Given the description of an element on the screen output the (x, y) to click on. 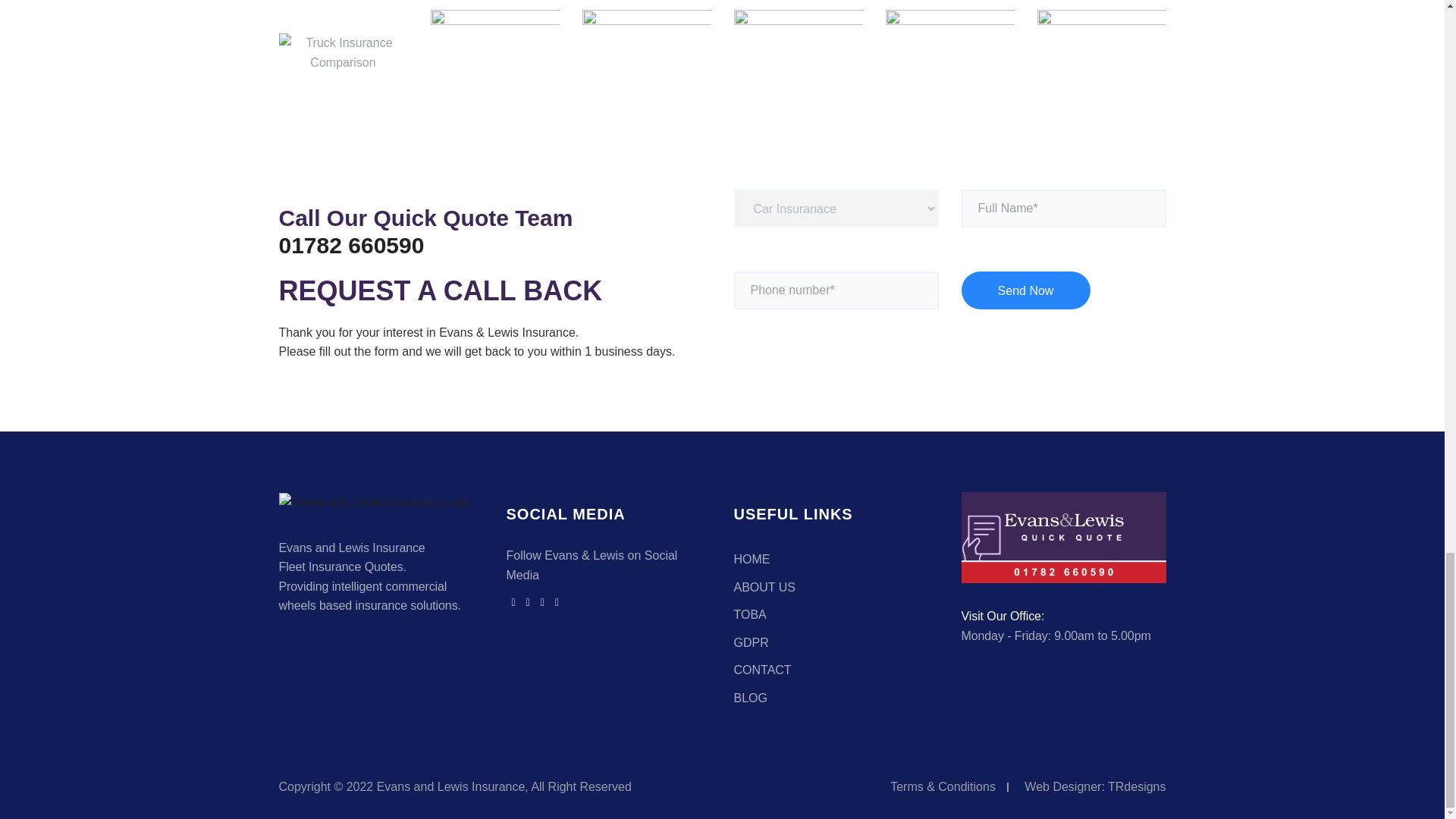
axa (1101, 52)
ABOUT US (764, 586)
CONTACT (762, 669)
equity (949, 52)
Truck Insurance Comparison (343, 52)
HOME (751, 558)
allianz (494, 52)
aviva (798, 52)
TOBA (750, 614)
amlin (646, 52)
